Given the description of an element on the screen output the (x, y) to click on. 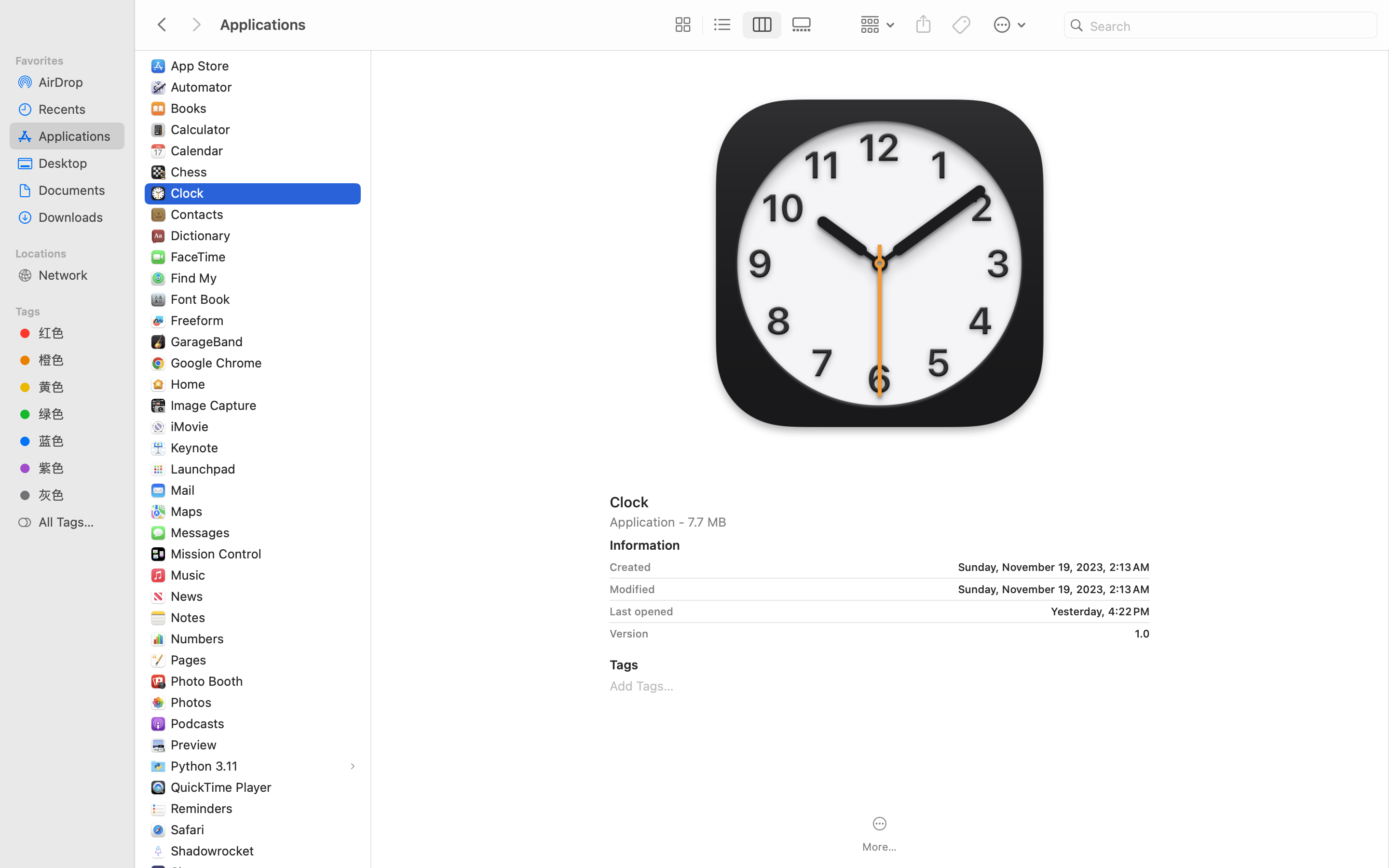
Tags… Element type: AXStaticText (20, 860)
蓝色 Element type: AXStaticText (77, 440)
Locations Element type: AXStaticText (72, 252)
<AXUIElement 0x127e0f340> {pid=510} Element type: AXRadioGroup (741, 24)
Contacts Element type: AXTextField (198, 213)
